Given the description of an element on the screen output the (x, y) to click on. 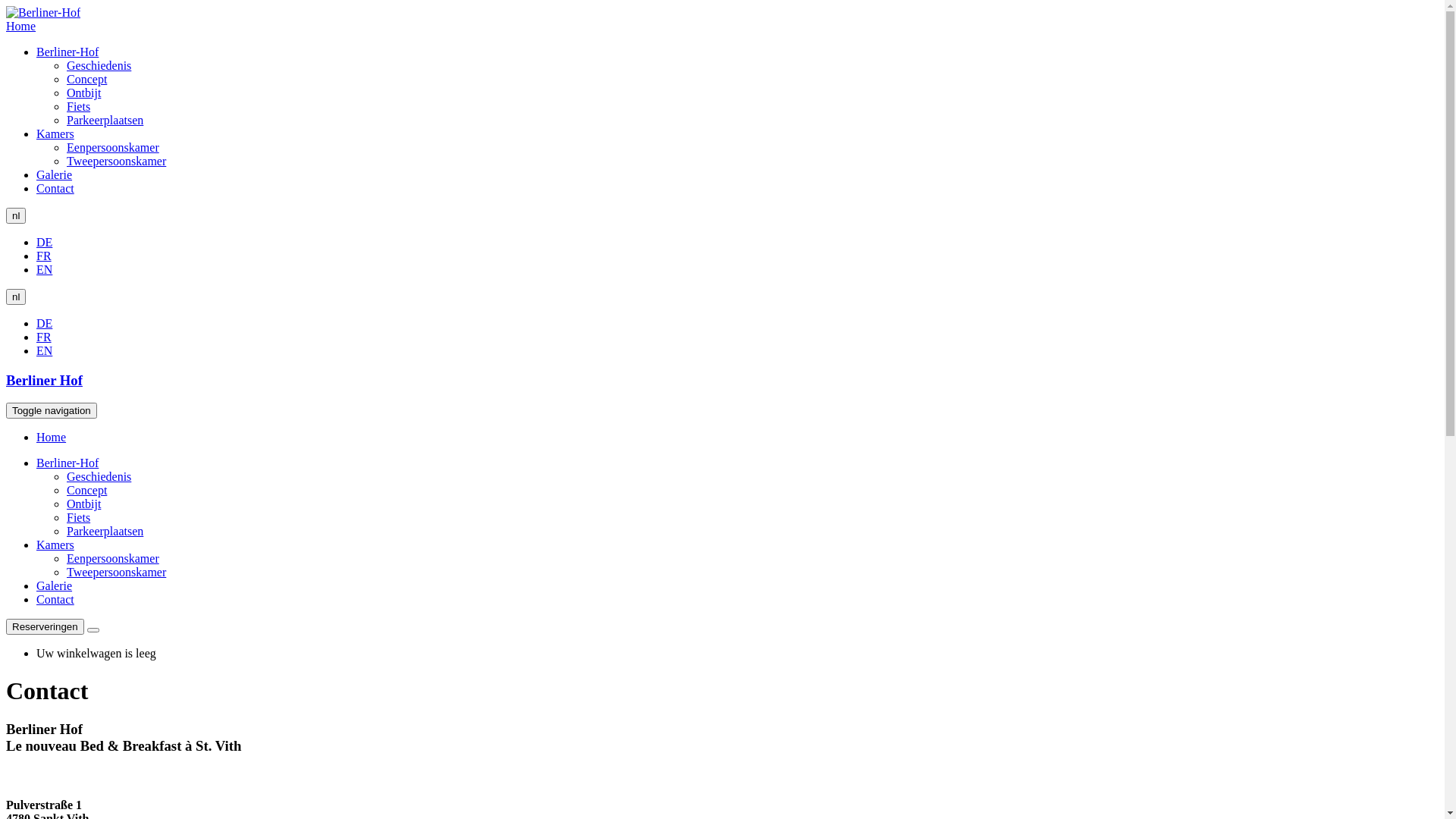
Concept Element type: text (86, 489)
DE Element type: text (44, 241)
Concept Element type: text (86, 78)
Ontbijt Element type: text (83, 503)
Fiets Element type: text (78, 106)
Kamers Element type: text (55, 544)
Galerie Element type: text (54, 174)
Tweepersoonskamer Element type: text (116, 160)
Berliner-Hof Element type: text (67, 462)
Berliner-Hof Element type: text (67, 51)
Berliner Hof Element type: text (44, 380)
Eenpersoonskamer Element type: text (112, 147)
Geschiedenis Element type: text (98, 476)
EN Element type: text (44, 350)
Parkeerplaatsen Element type: text (104, 530)
Home Element type: text (50, 436)
EN Element type: text (44, 269)
DE Element type: text (44, 322)
Reserveringen Element type: text (45, 626)
Geschiedenis Element type: text (98, 65)
Ontbijt Element type: text (83, 92)
FR Element type: text (43, 255)
Kamers Element type: text (55, 133)
Galerie Element type: text (54, 585)
Contact Element type: text (55, 188)
nl Element type: text (15, 296)
Home Element type: text (20, 25)
nl Element type: text (15, 215)
Toggle navigation Element type: text (51, 410)
FR Element type: text (43, 336)
Tweepersoonskamer Element type: text (116, 571)
Contact Element type: text (55, 599)
Parkeerplaatsen Element type: text (104, 119)
Home Element type: hover (43, 12)
Eenpersoonskamer Element type: text (112, 558)
Fiets Element type: text (78, 517)
